Given the description of an element on the screen output the (x, y) to click on. 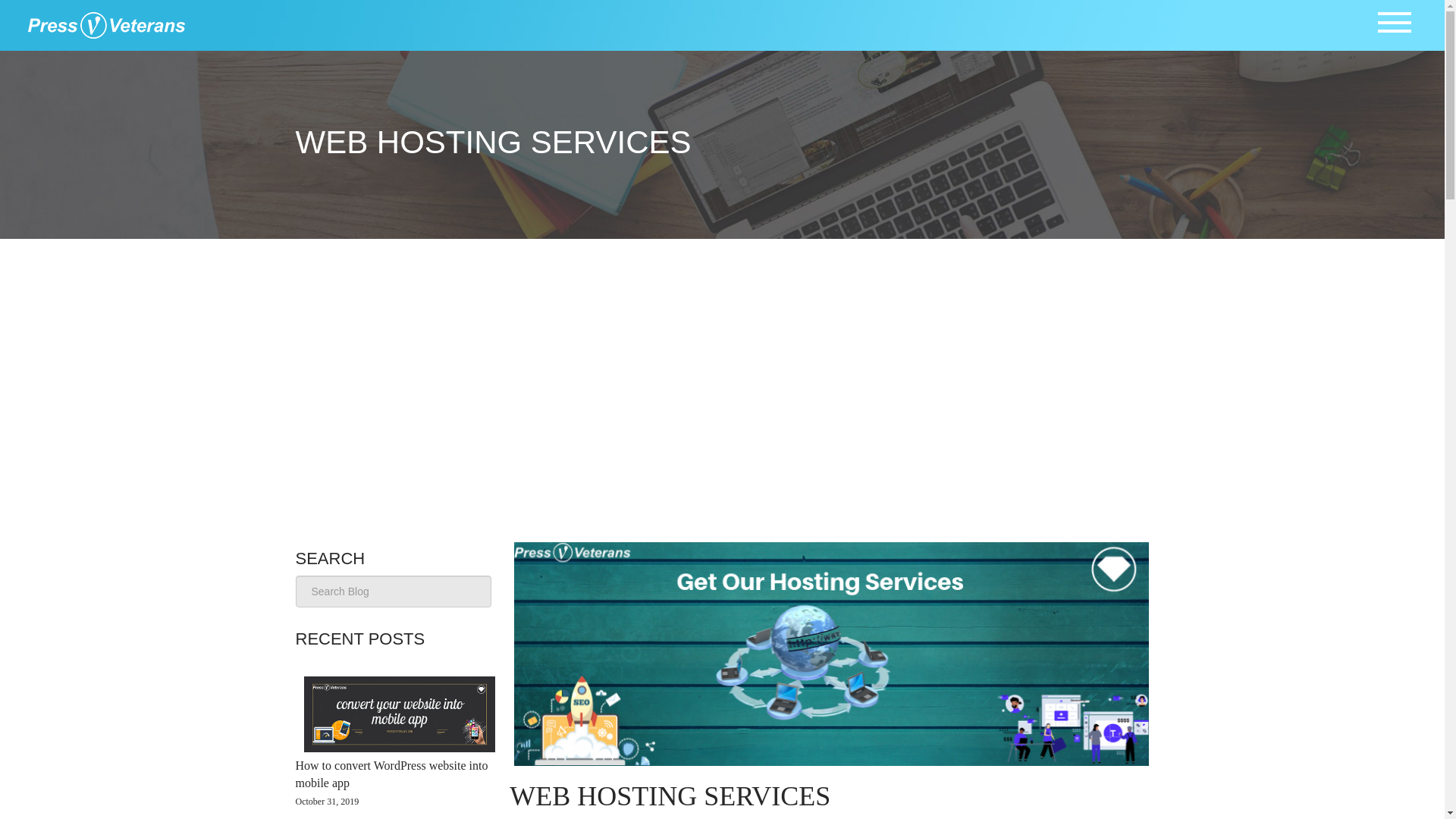
WEB HOSTING SERVICES (669, 796)
